Given the description of an element on the screen output the (x, y) to click on. 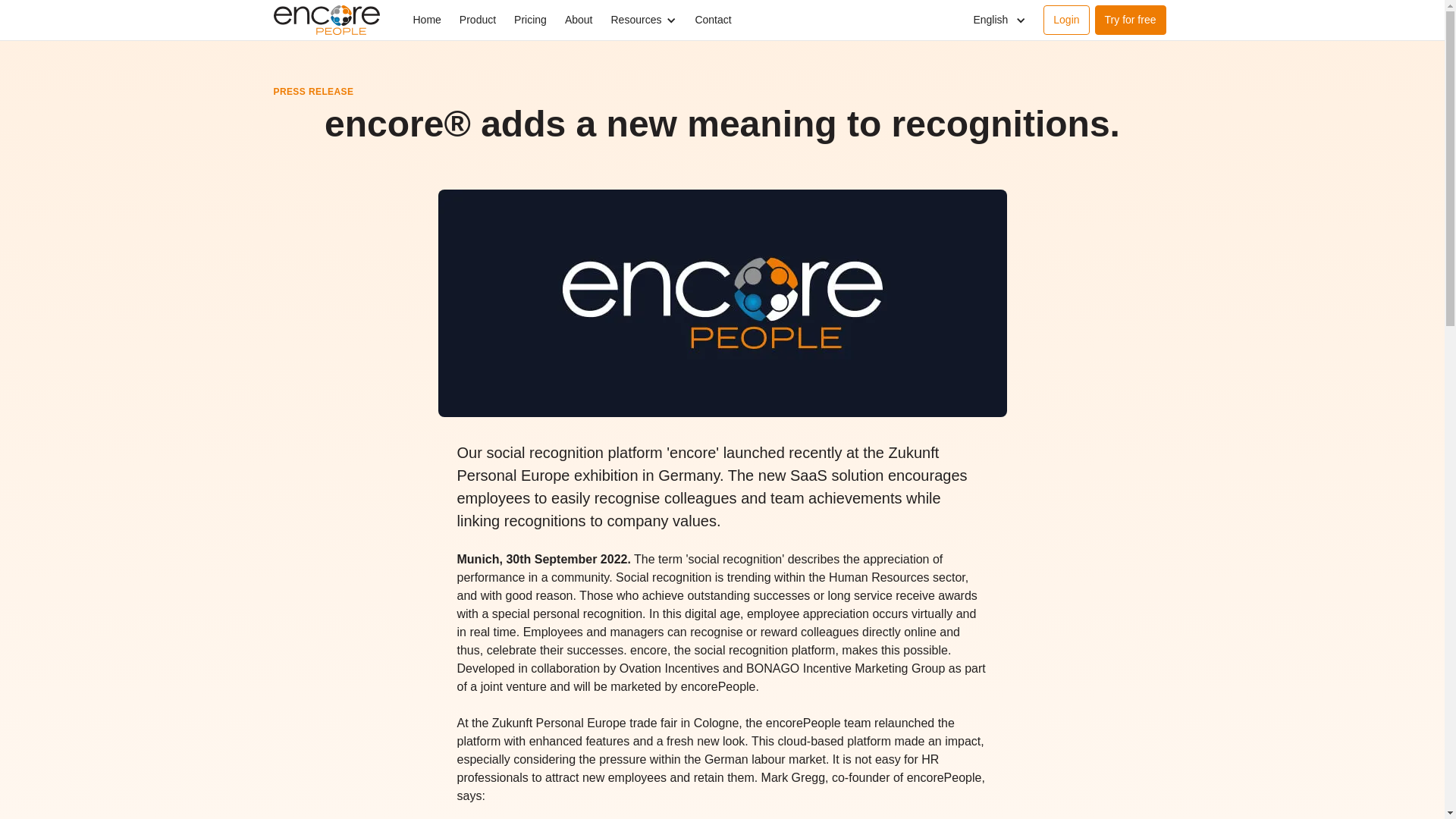
Contact (712, 20)
Product (477, 20)
Pricing (530, 20)
Try for free (1130, 19)
About (579, 20)
Login (1066, 19)
Home (426, 20)
